Given the description of an element on the screen output the (x, y) to click on. 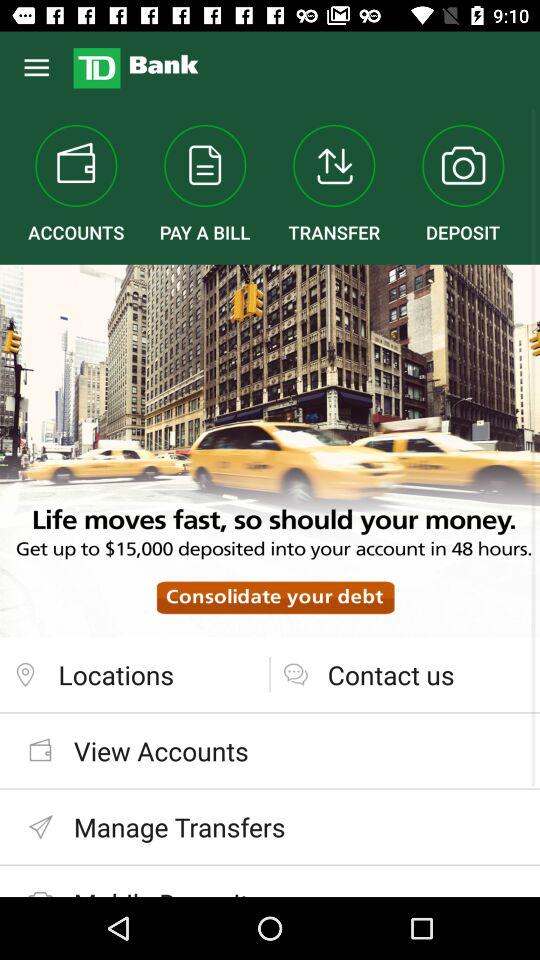
turn on item above mobile deposit item (270, 826)
